Given the description of an element on the screen output the (x, y) to click on. 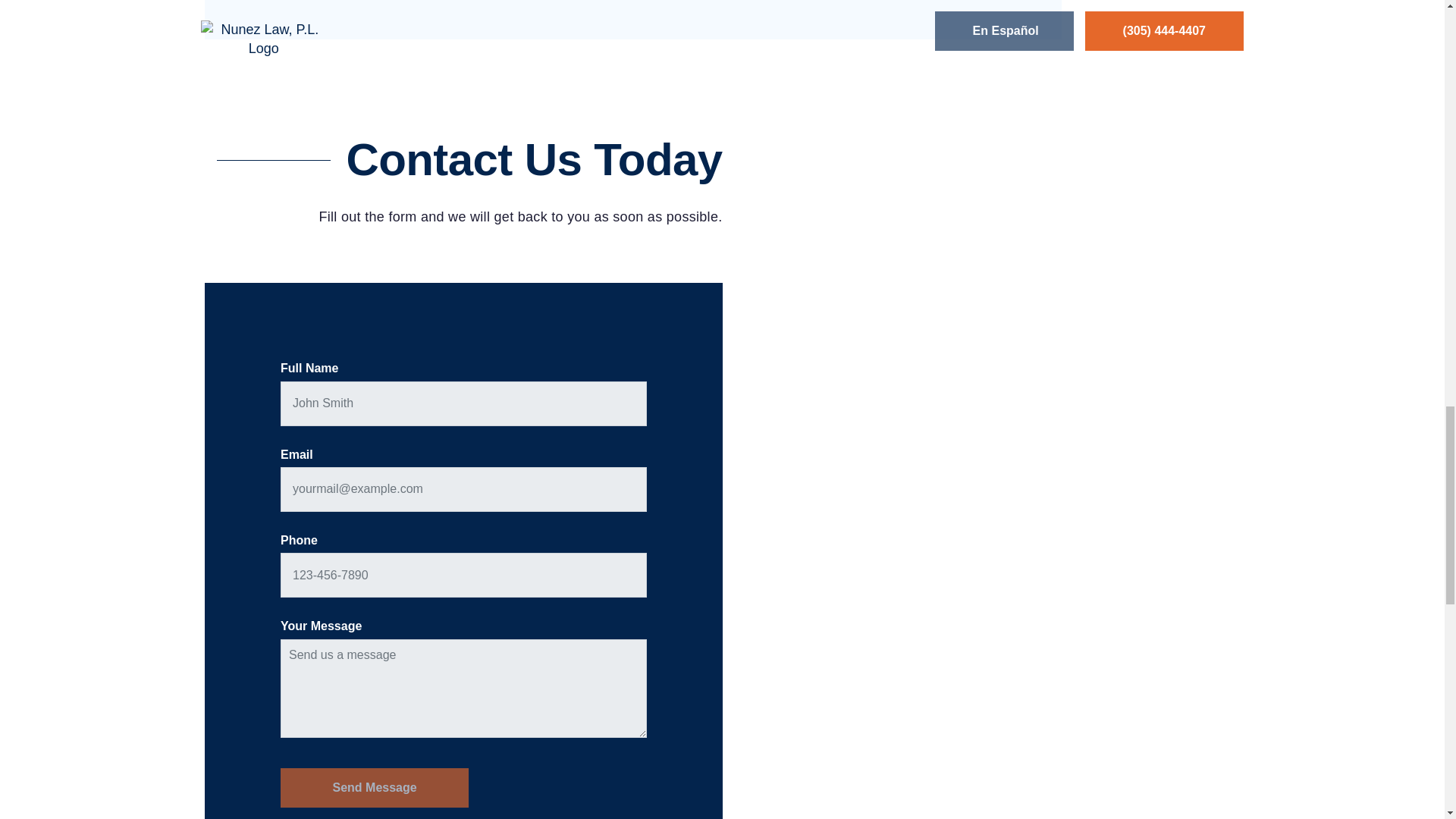
Click to Submit (374, 787)
